Given the description of an element on the screen output the (x, y) to click on. 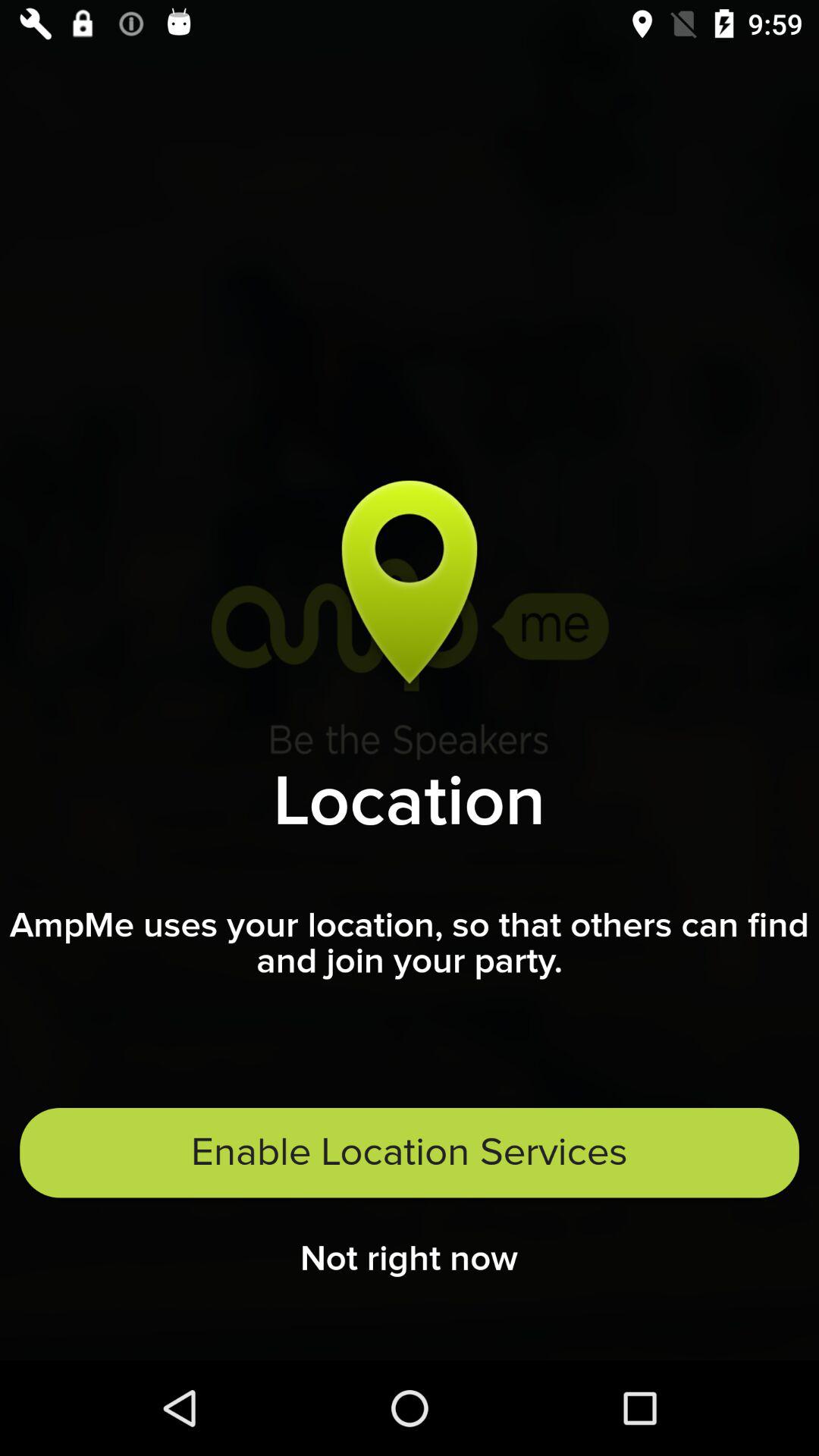
swipe until not right now item (408, 1263)
